Given the description of an element on the screen output the (x, y) to click on. 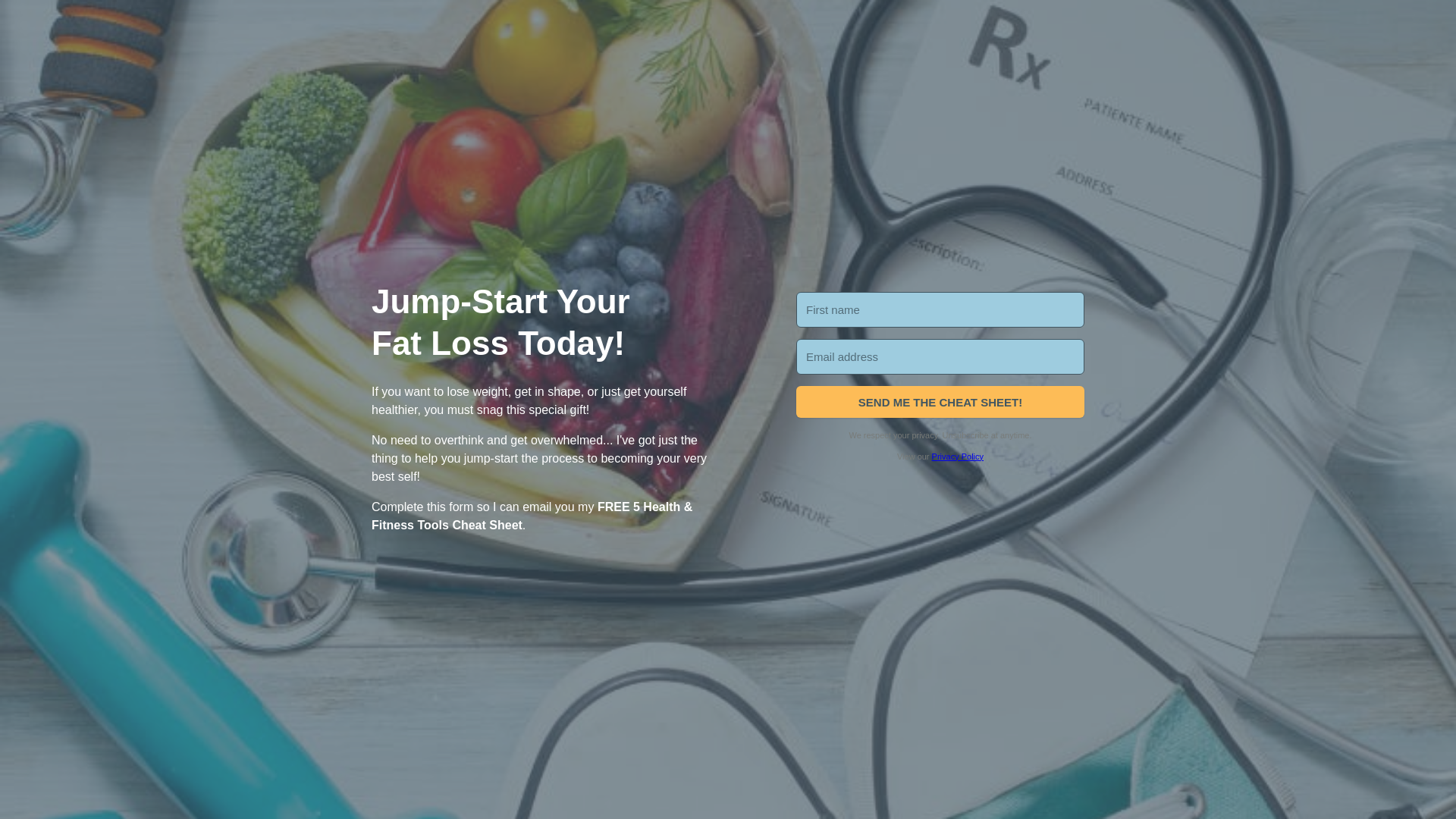
Privacy Policy (957, 456)
SEND ME THE CHEAT SHEET! (940, 401)
